Given the description of an element on the screen output the (x, y) to click on. 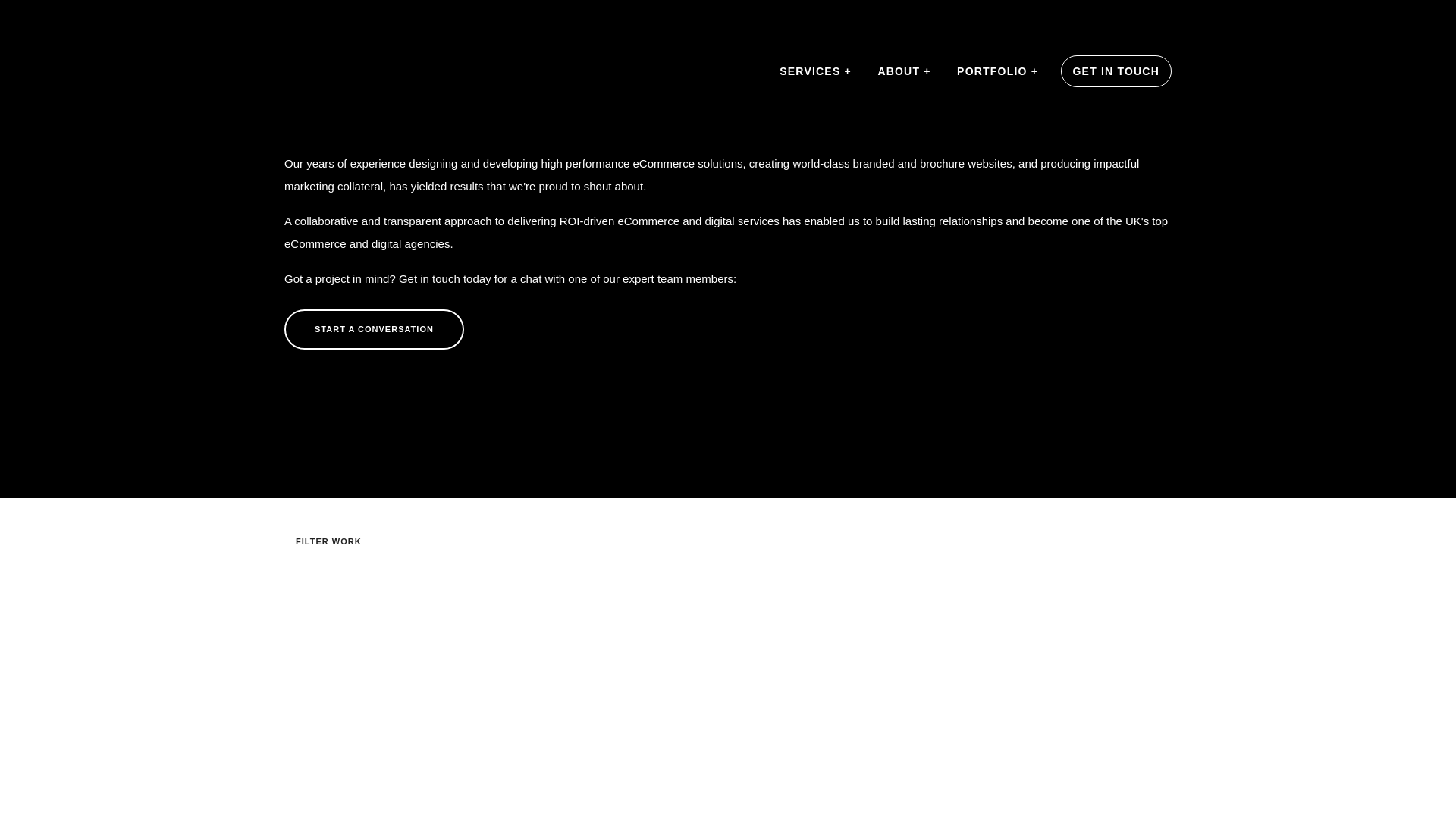
SERVICES (816, 71)
Services (816, 71)
